Given the description of an element on the screen output the (x, y) to click on. 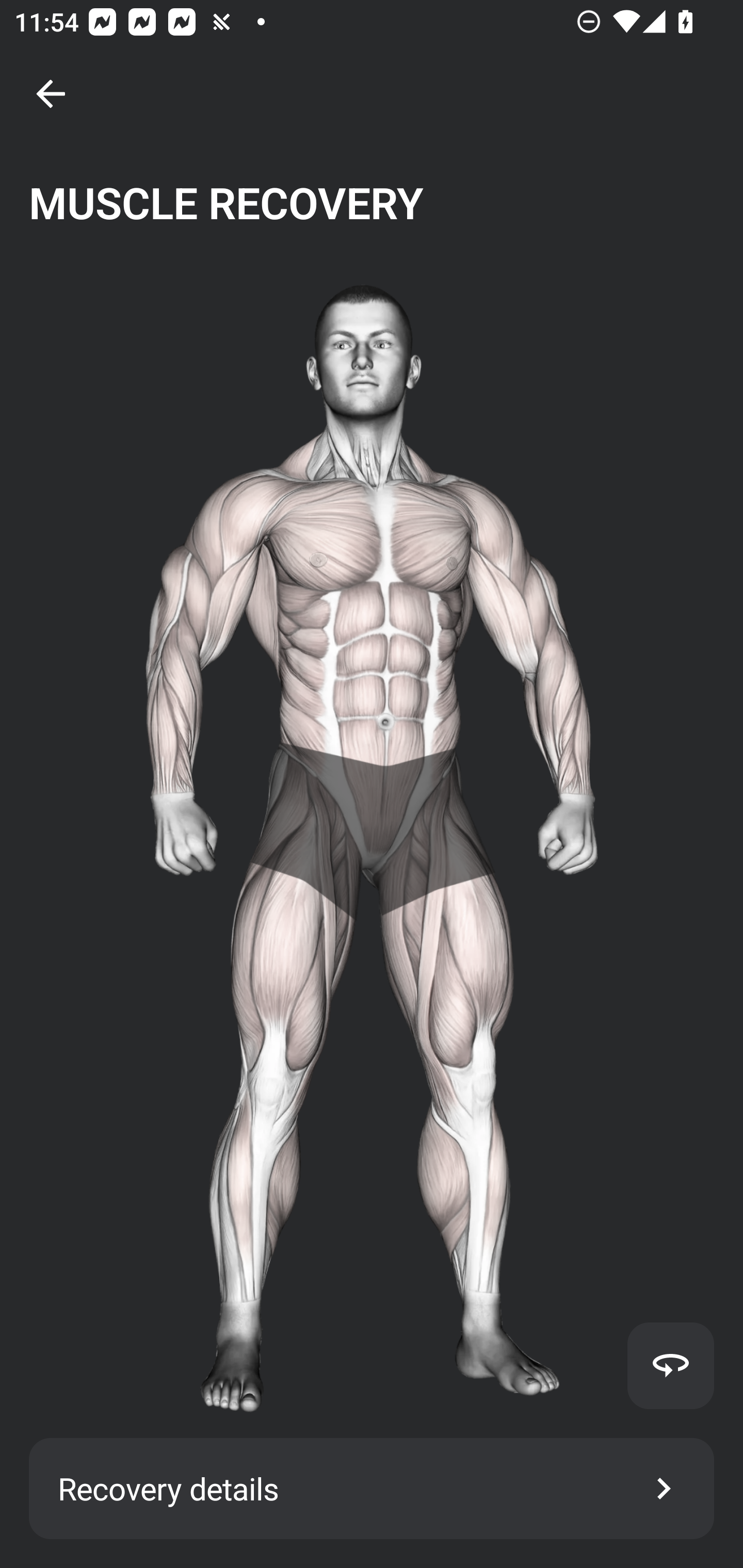
Back Icon (50, 93)
Turn icon (670, 1365)
Recovery details Next icon (371, 1488)
